Given the description of an element on the screen output the (x, y) to click on. 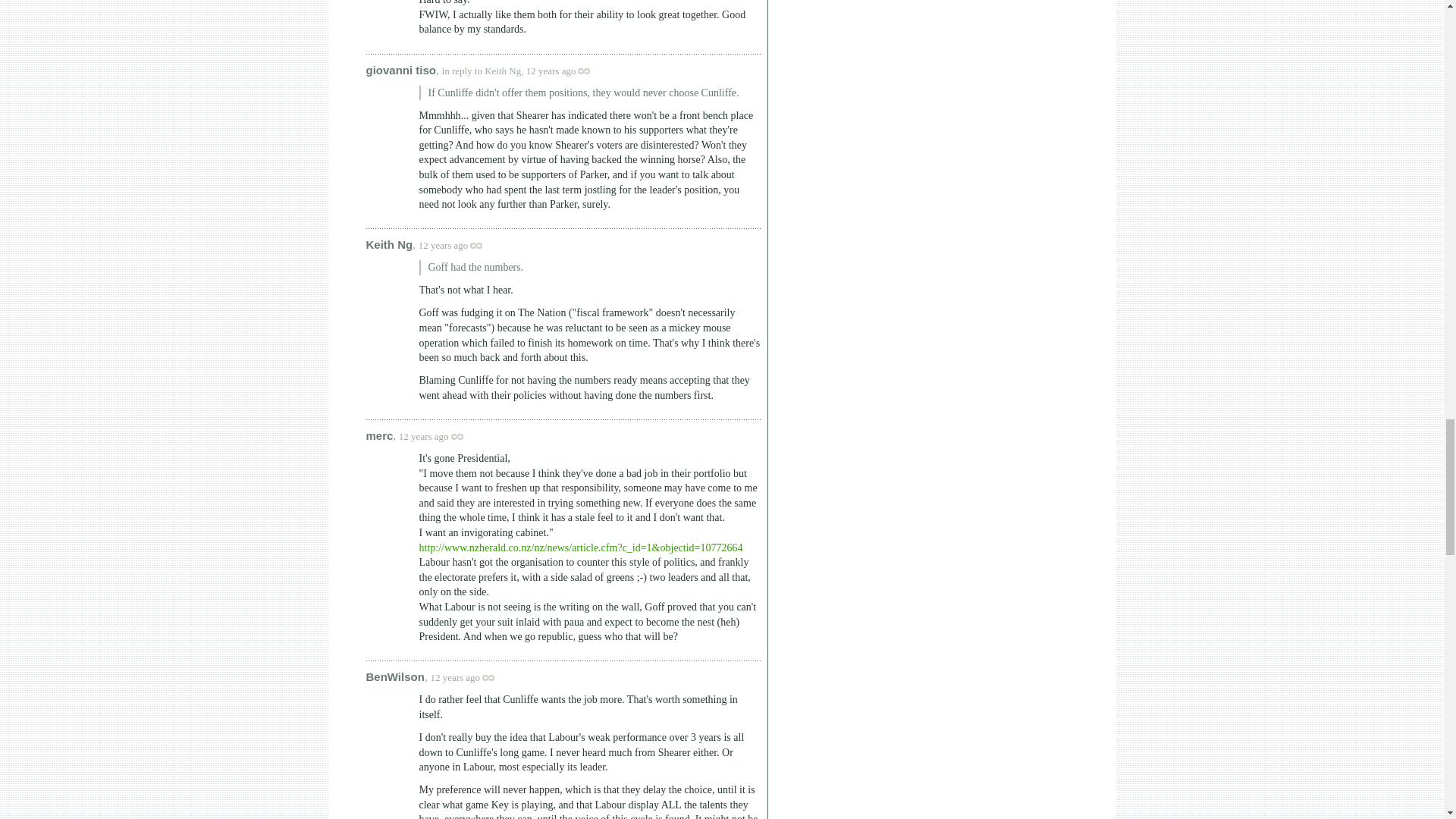
09:21 Dec 12, 2011 (454, 677)
09:20 Dec 12, 2011 (423, 436)
09:08 Dec 12, 2011 (550, 70)
09:11 Dec 12, 2011 (443, 244)
